Given the description of an element on the screen output the (x, y) to click on. 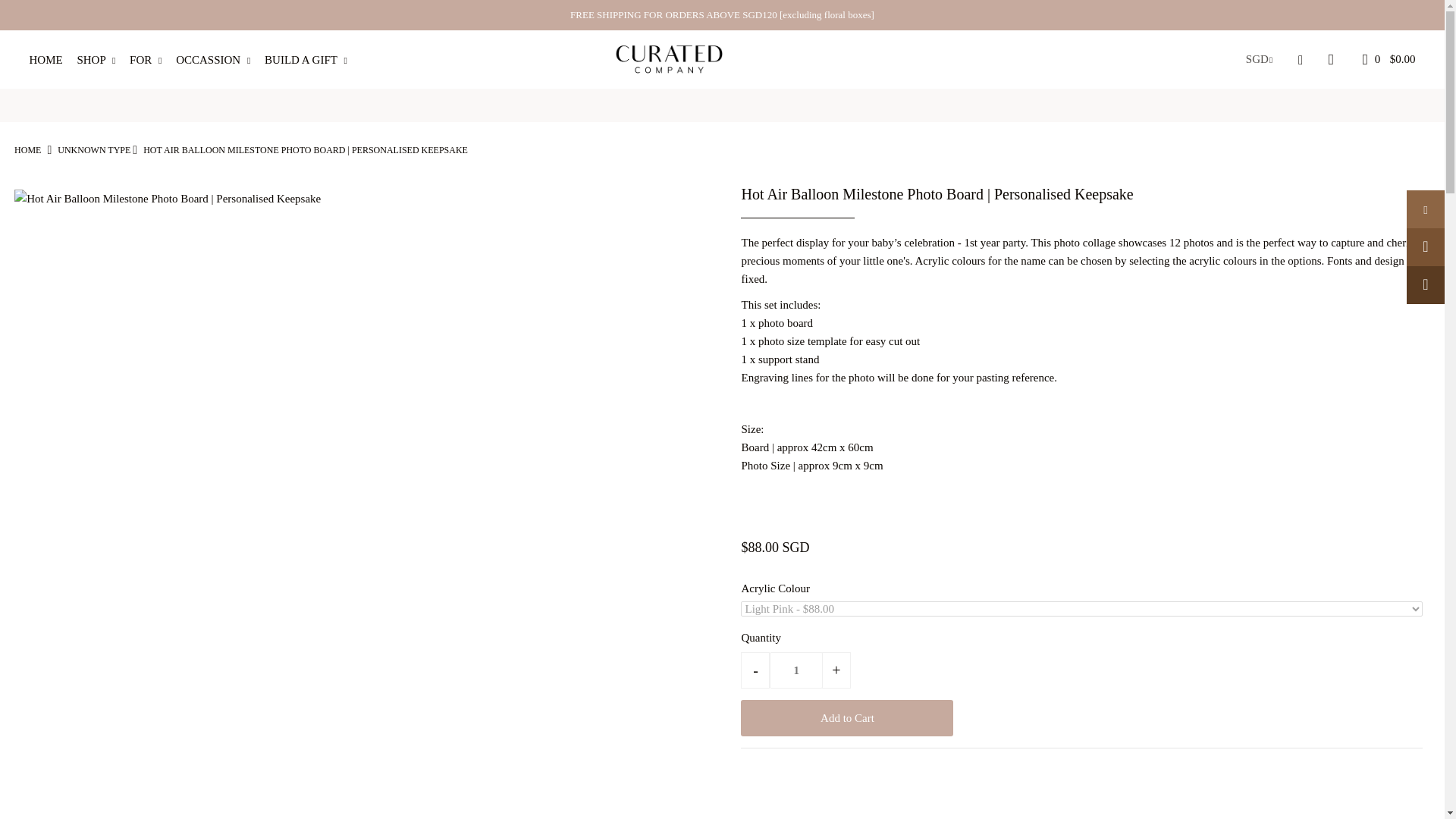
Add to Cart (847, 718)
1 (796, 669)
Home (27, 149)
FOR (151, 60)
SHOP (101, 60)
HOME (51, 60)
OCCASSION (219, 60)
